Given the description of an element on the screen output the (x, y) to click on. 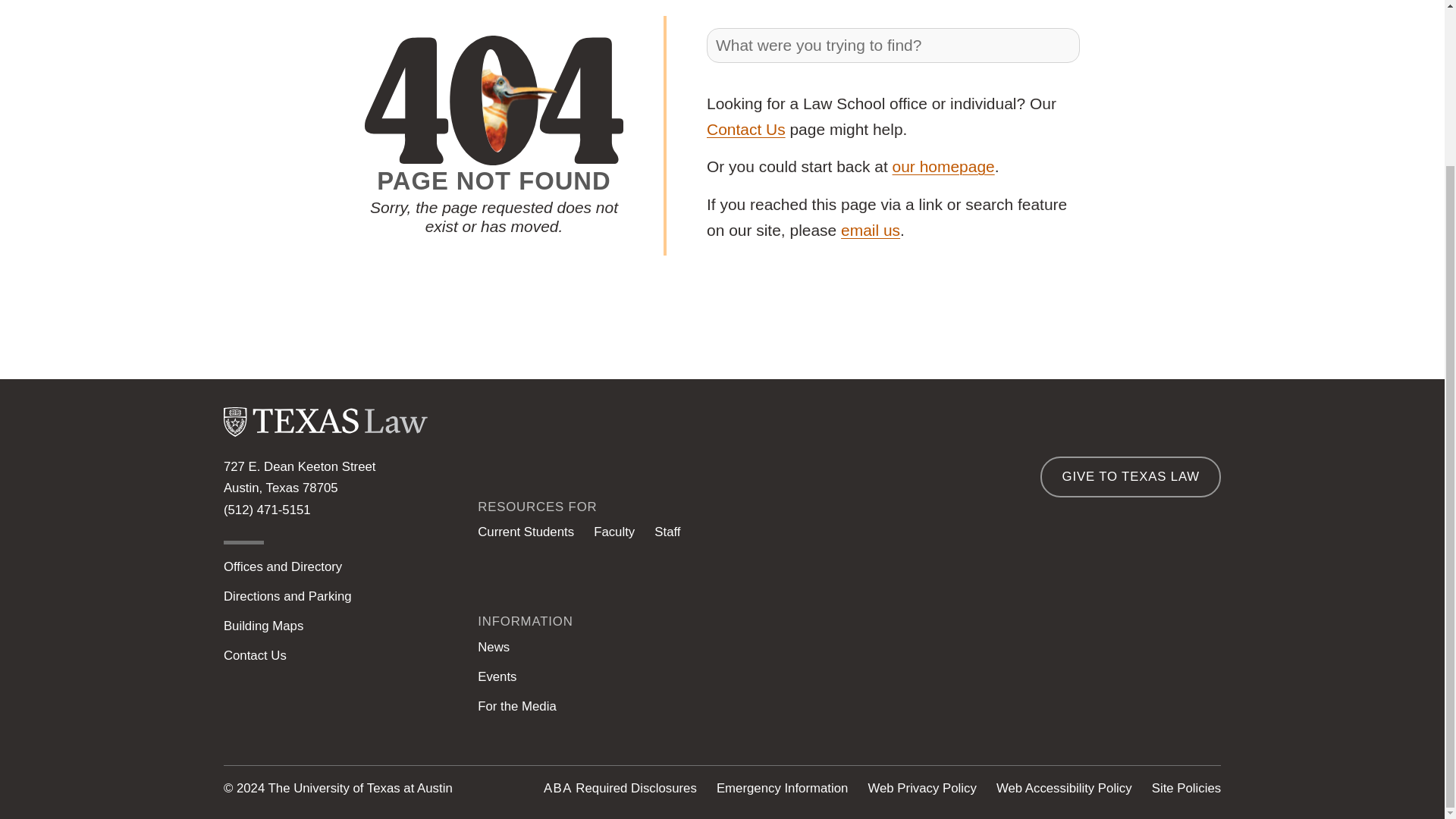
Facebook (1091, 696)
LinkedIn (973, 696)
American Bar Association (557, 788)
Flickr (1206, 696)
YouTube (1147, 696)
Instagram (915, 696)
Twitter (1031, 696)
